Given the description of an element on the screen output the (x, y) to click on. 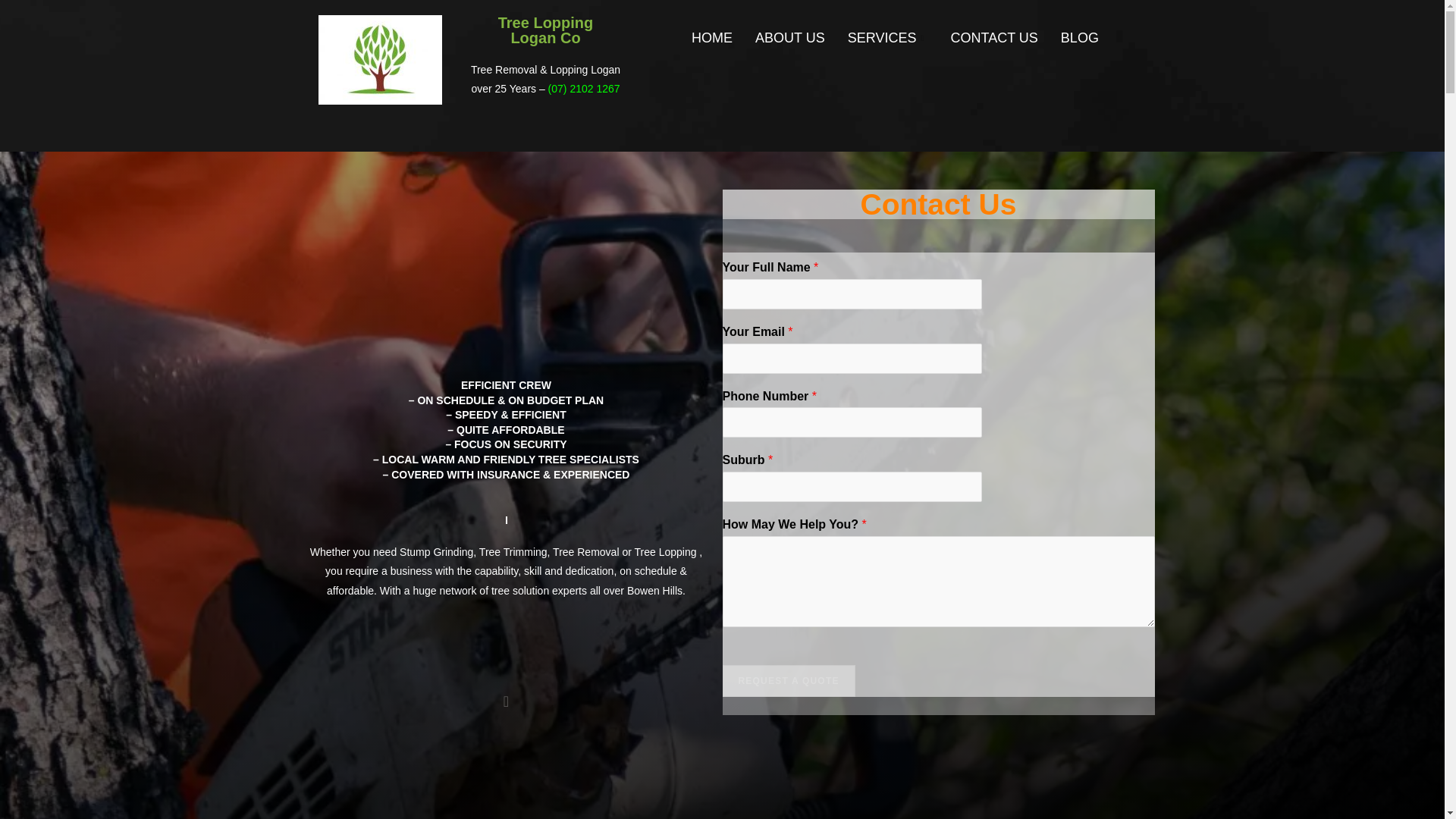
BLOG (1079, 37)
SERVICES (887, 37)
HOME (711, 37)
Tree Lopping Logan Co (380, 59)
ABOUT US (789, 37)
CONTACT US (994, 37)
REQUEST A QUOTE (788, 680)
